Given the description of an element on the screen output the (x, y) to click on. 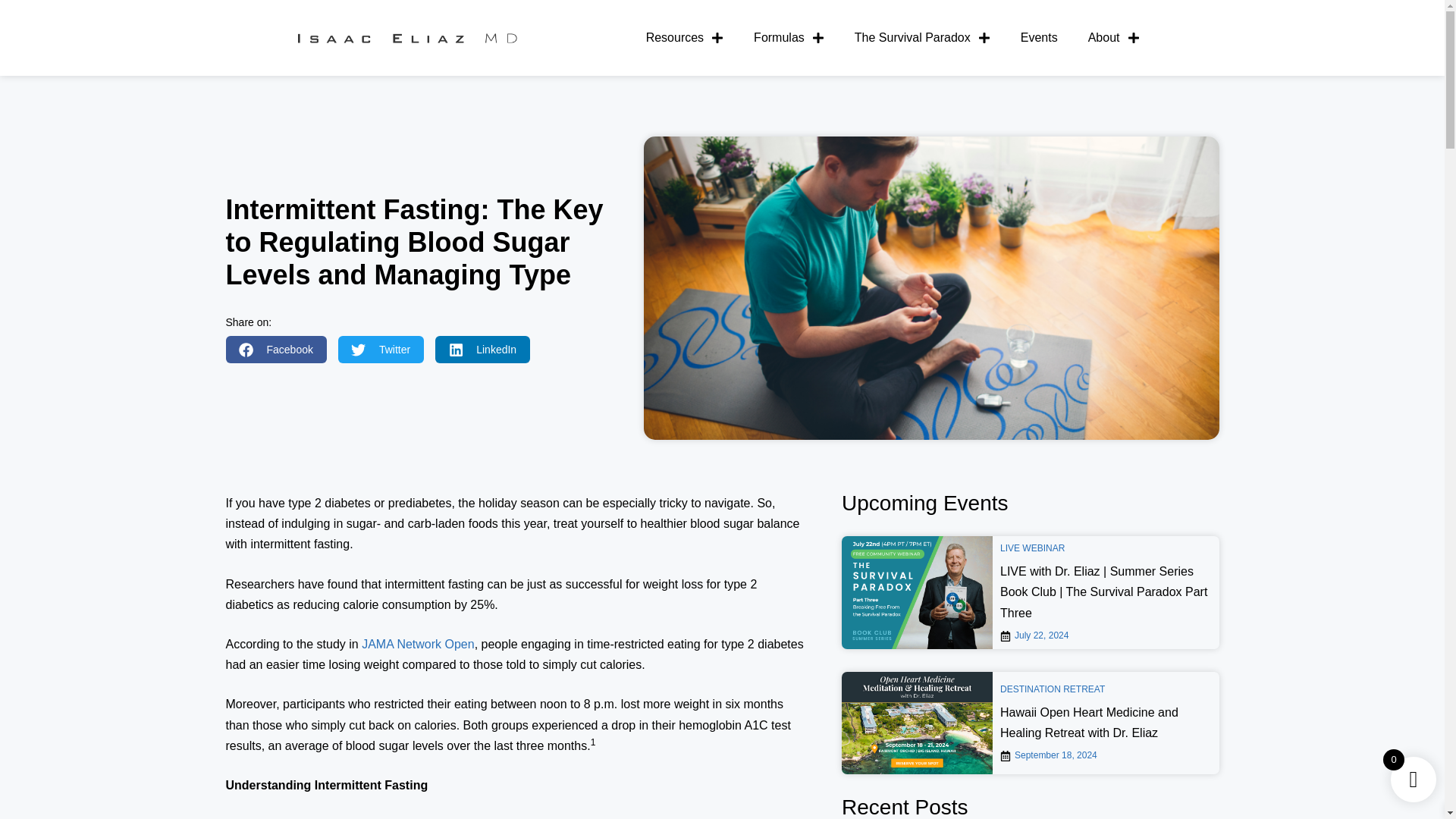
Resources (684, 38)
